Given the description of an element on the screen output the (x, y) to click on. 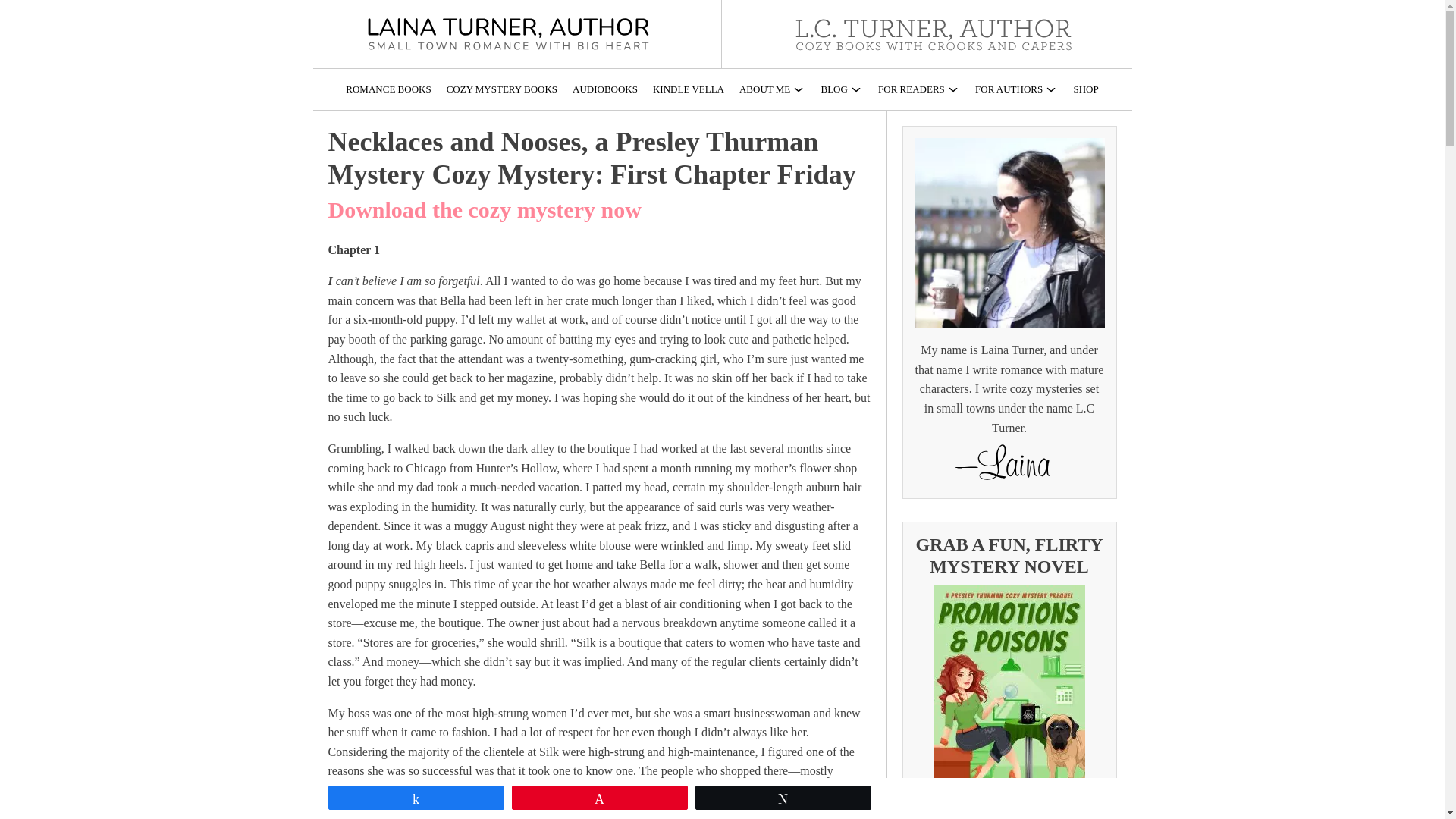
ABOUT ME (772, 88)
Download the cozy mystery now (483, 209)
Laina Turner, Author - Home (509, 33)
L.C. Turner, Author - Home (933, 33)
FOR AUTHORS (1016, 88)
ROMANCE BOOKS (388, 89)
KINDLE VELLA (687, 89)
FOR READERS (918, 88)
COZY MYSTERY BOOKS (501, 89)
BLOG (842, 88)
AUDIOBOOKS (604, 89)
